Given the description of an element on the screen output the (x, y) to click on. 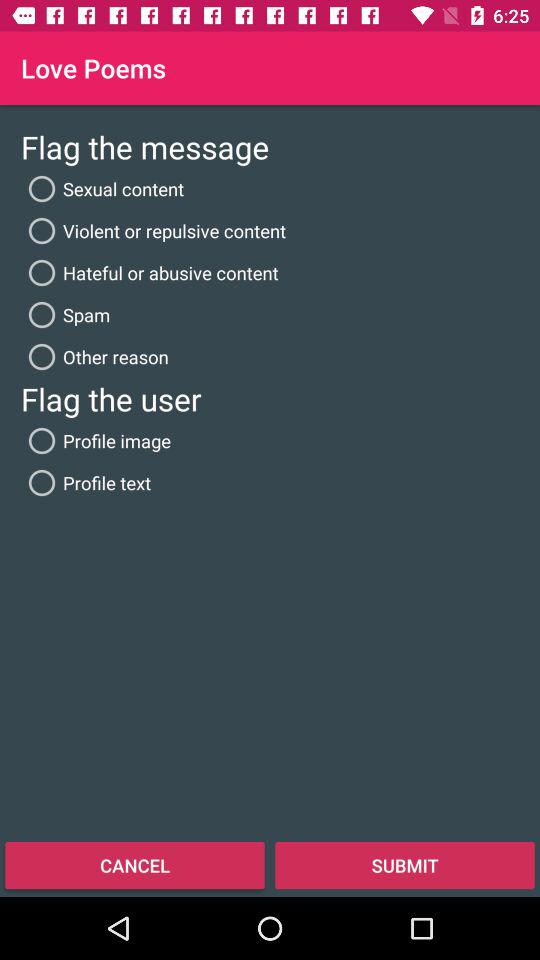
turn on the icon below violent or repulsive icon (149, 272)
